Given the description of an element on the screen output the (x, y) to click on. 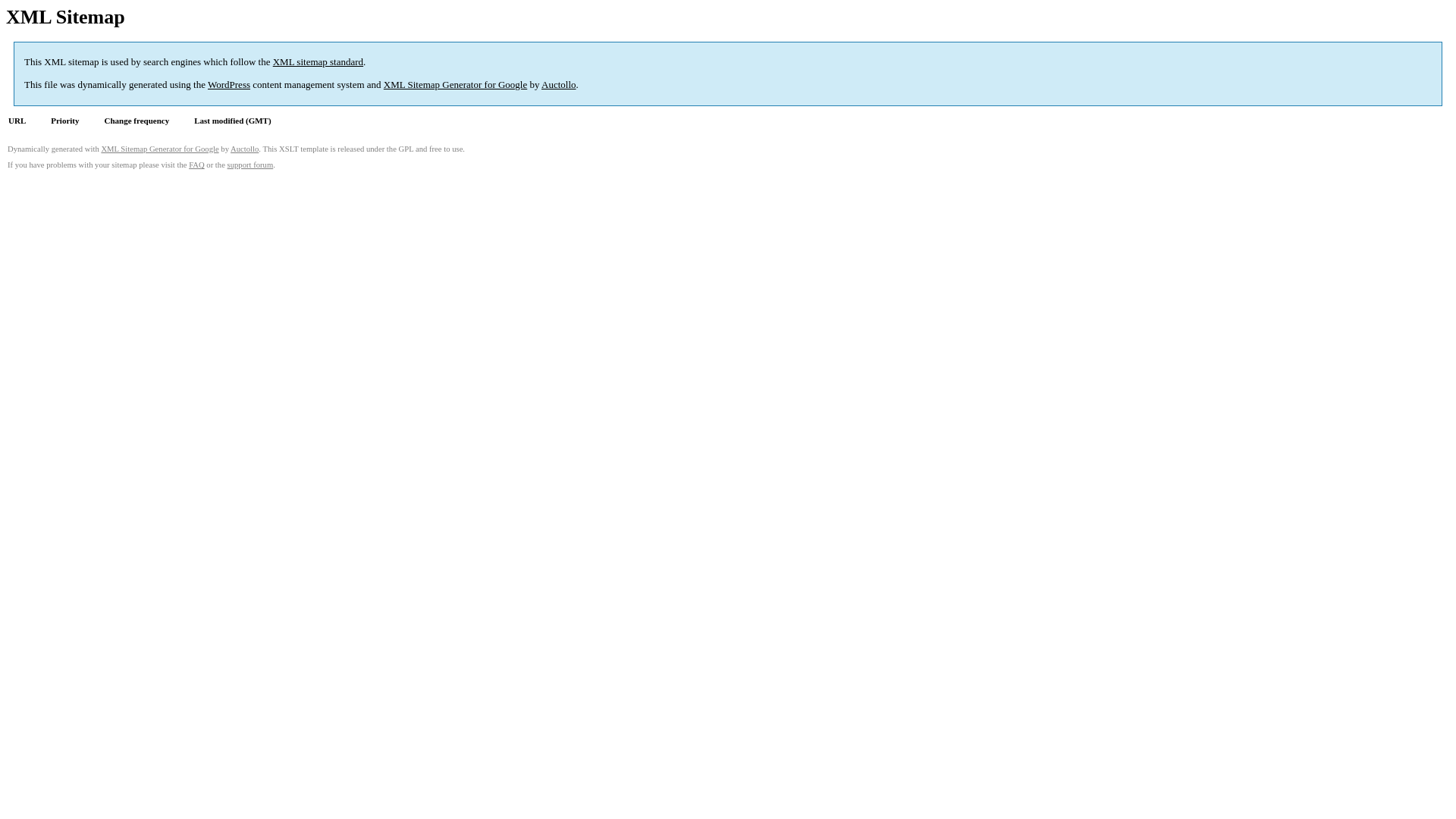
XML Sitemap Generator for Google Element type: text (455, 84)
support forum Element type: text (250, 164)
WordPress Element type: text (228, 84)
Auctollo Element type: text (558, 84)
XML sitemap standard Element type: text (318, 61)
FAQ Element type: text (196, 164)
XML Sitemap Generator for Google Element type: text (159, 148)
Auctollo Element type: text (244, 148)
